Given the description of an element on the screen output the (x, y) to click on. 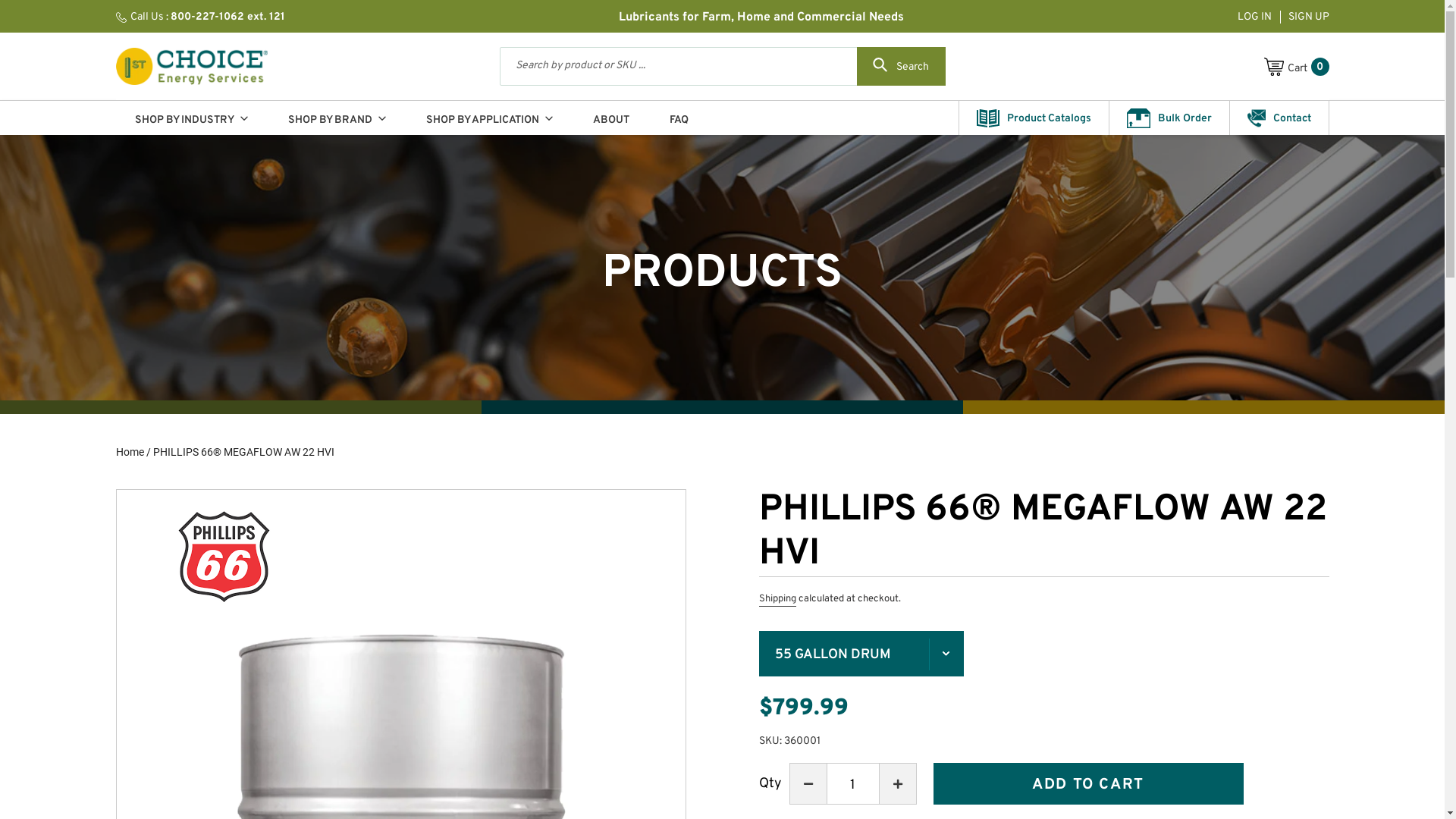
Product Catalogs Element type: text (1032, 117)
FAQ Element type: text (678, 117)
Home Element type: text (129, 451)
800-227-1062 Element type: text (207, 16)
Bulk Order Element type: text (1168, 117)
ABOUT Element type: text (610, 117)
Cart
0 Element type: text (1295, 65)
SHOP BY INDUSTRY Element type: text (190, 117)
Search Element type: text (900, 66)
SIGN UP Element type: text (1304, 16)
SHOP BY APPLICATION Element type: text (488, 117)
Contact Element type: text (1279, 117)
LOG IN Element type: text (1255, 16)
SHOP BY BRAND Element type: text (336, 117)
ADD TO CART Element type: text (1087, 783)
Shipping Element type: text (776, 599)
